Given the description of an element on the screen output the (x, y) to click on. 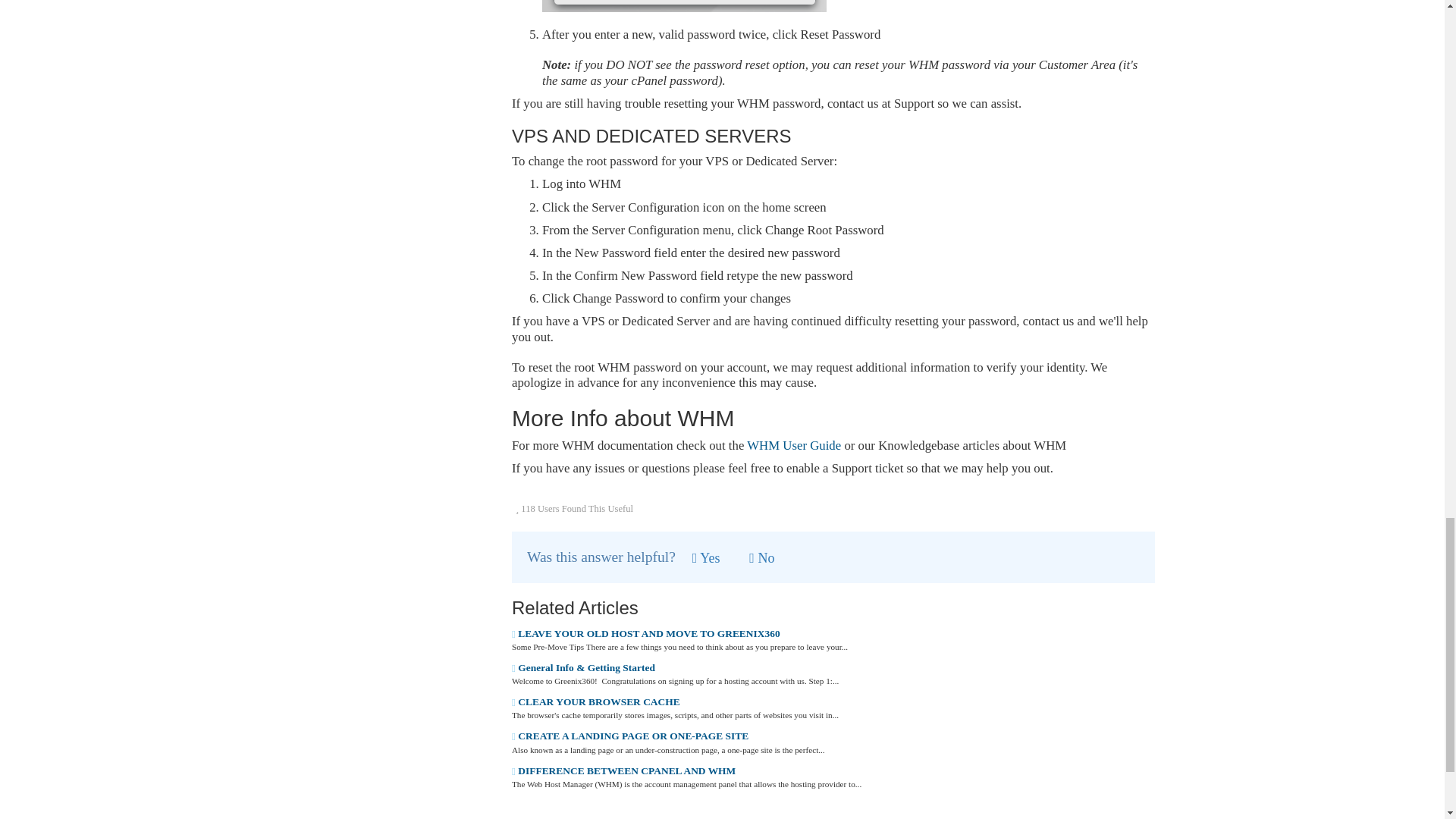
WHM User Guide (793, 445)
No (761, 558)
LEAVE YOUR OLD HOST AND MOVE TO GREENIX360 (646, 633)
CLEAR YOUR BROWSER CACHE (595, 701)
Yes (706, 558)
